Given the description of an element on the screen output the (x, y) to click on. 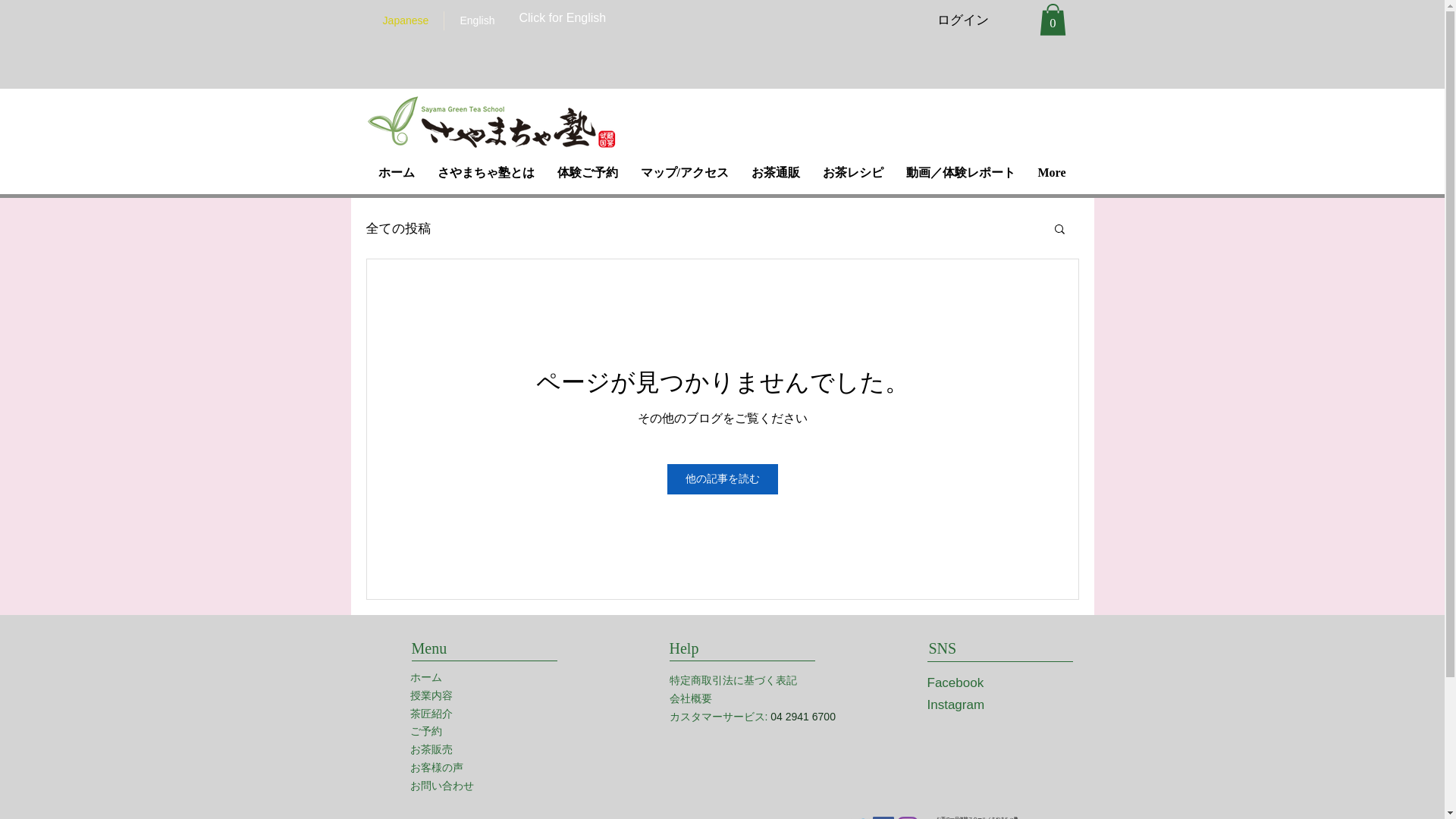
English (476, 20)
Facebook (955, 682)
Japanese (405, 20)
Instagram (955, 704)
